Given the description of an element on the screen output the (x, y) to click on. 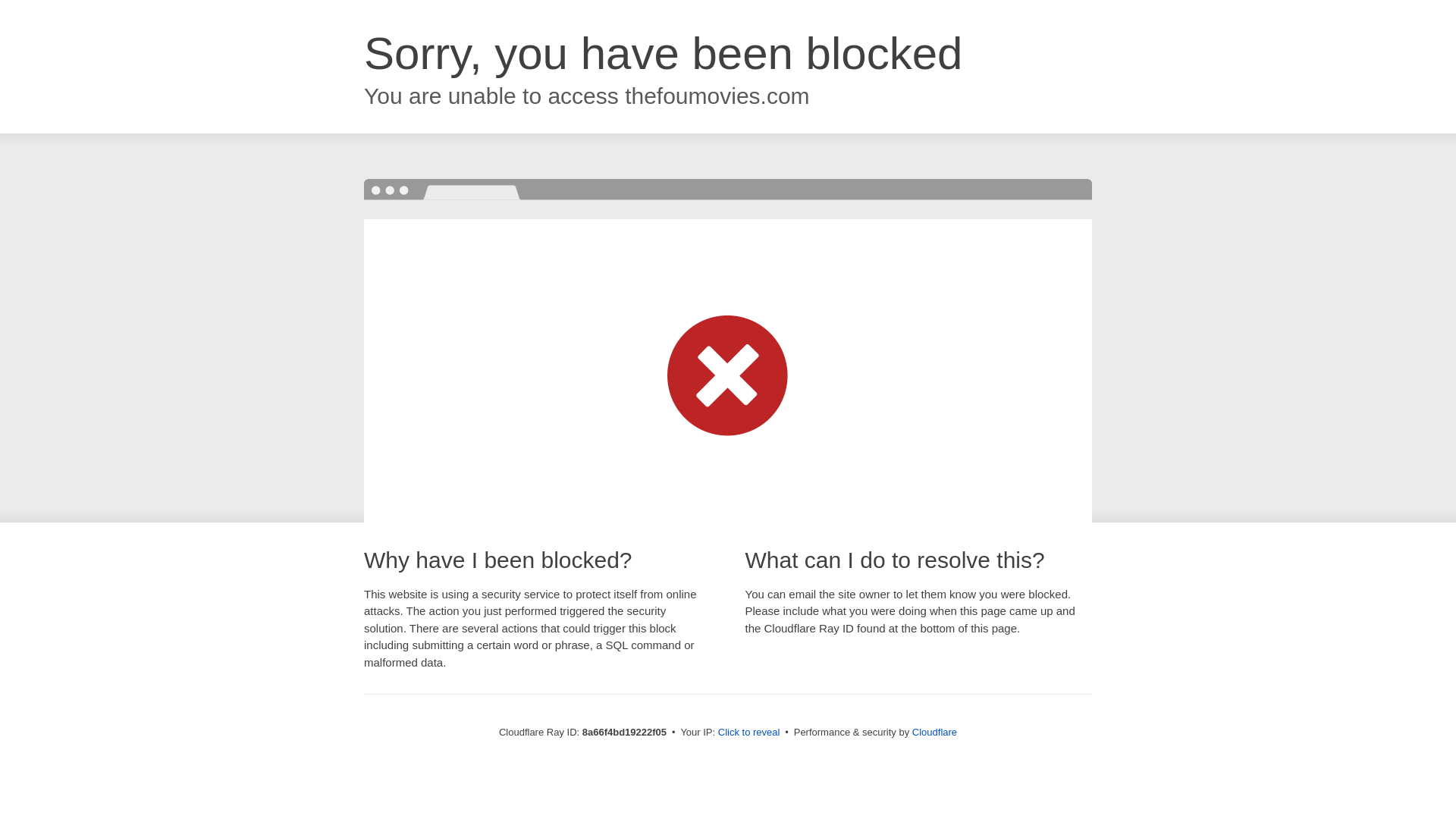
Cloudflare (934, 731)
Click to reveal (748, 732)
